Given the description of an element on the screen output the (x, y) to click on. 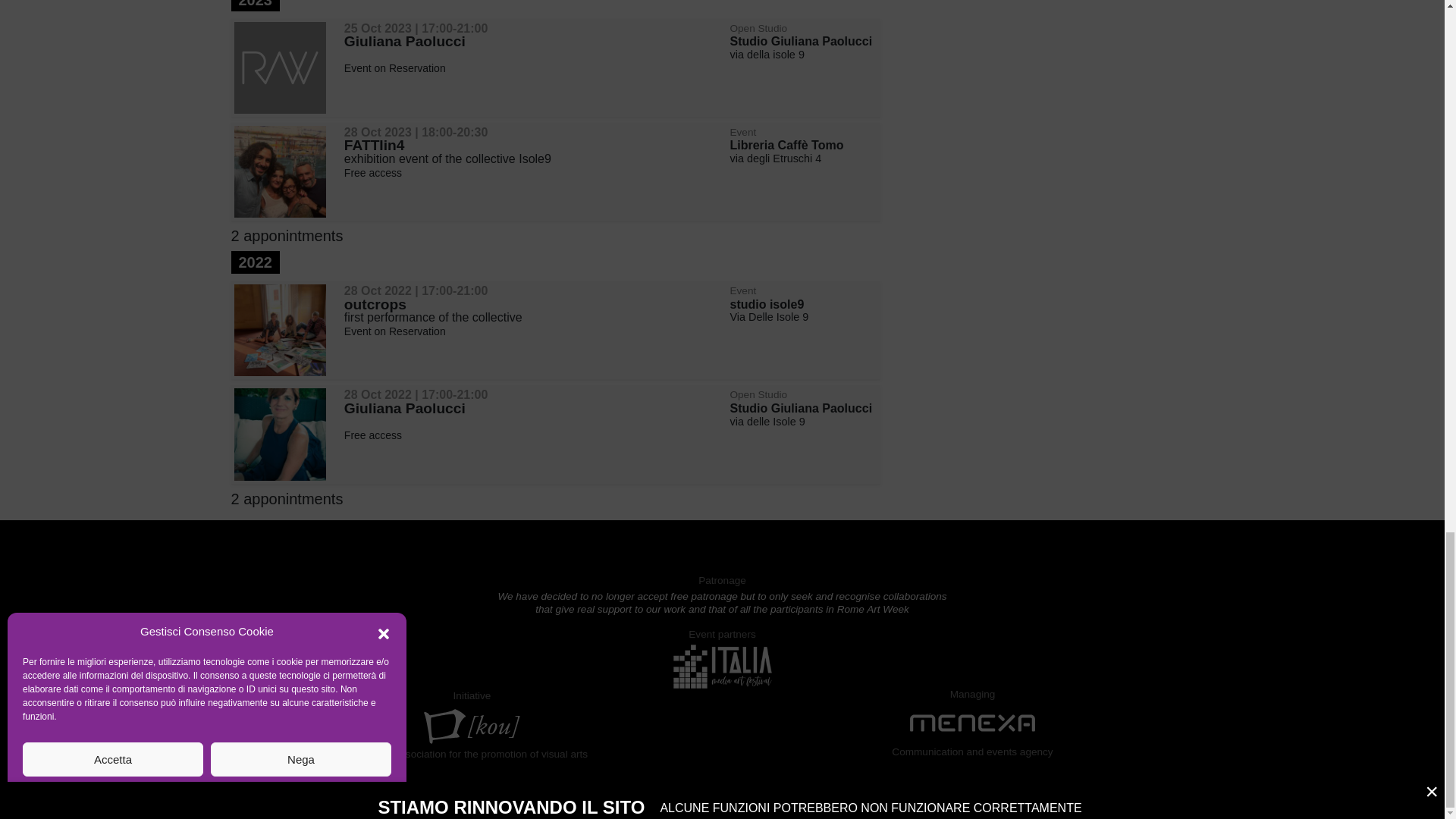
Italia Media Art Festival (721, 665)
